Given the description of an element on the screen output the (x, y) to click on. 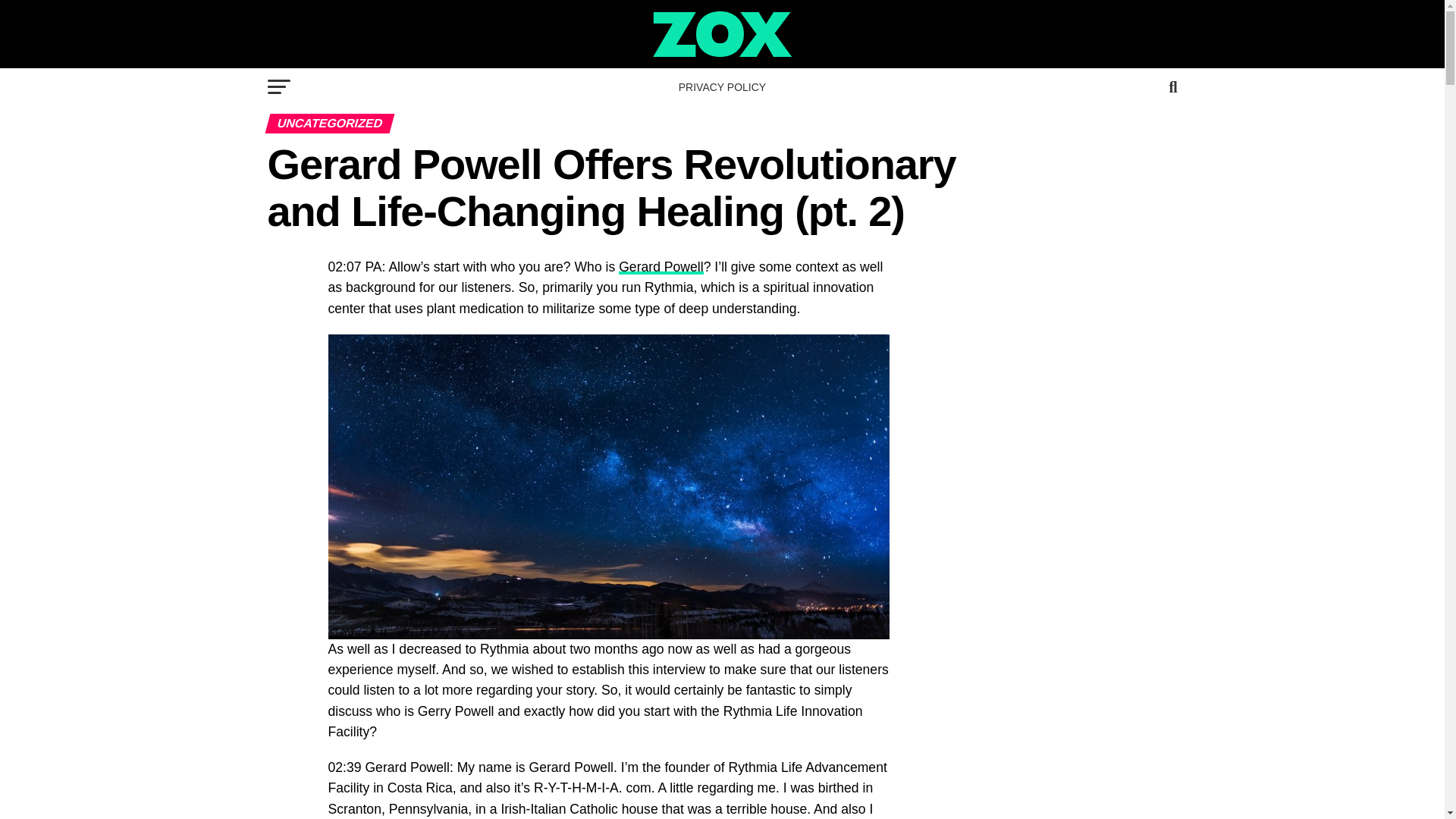
PRIVACY POLICY (721, 86)
Gerard Powell (660, 266)
